Given the description of an element on the screen output the (x, y) to click on. 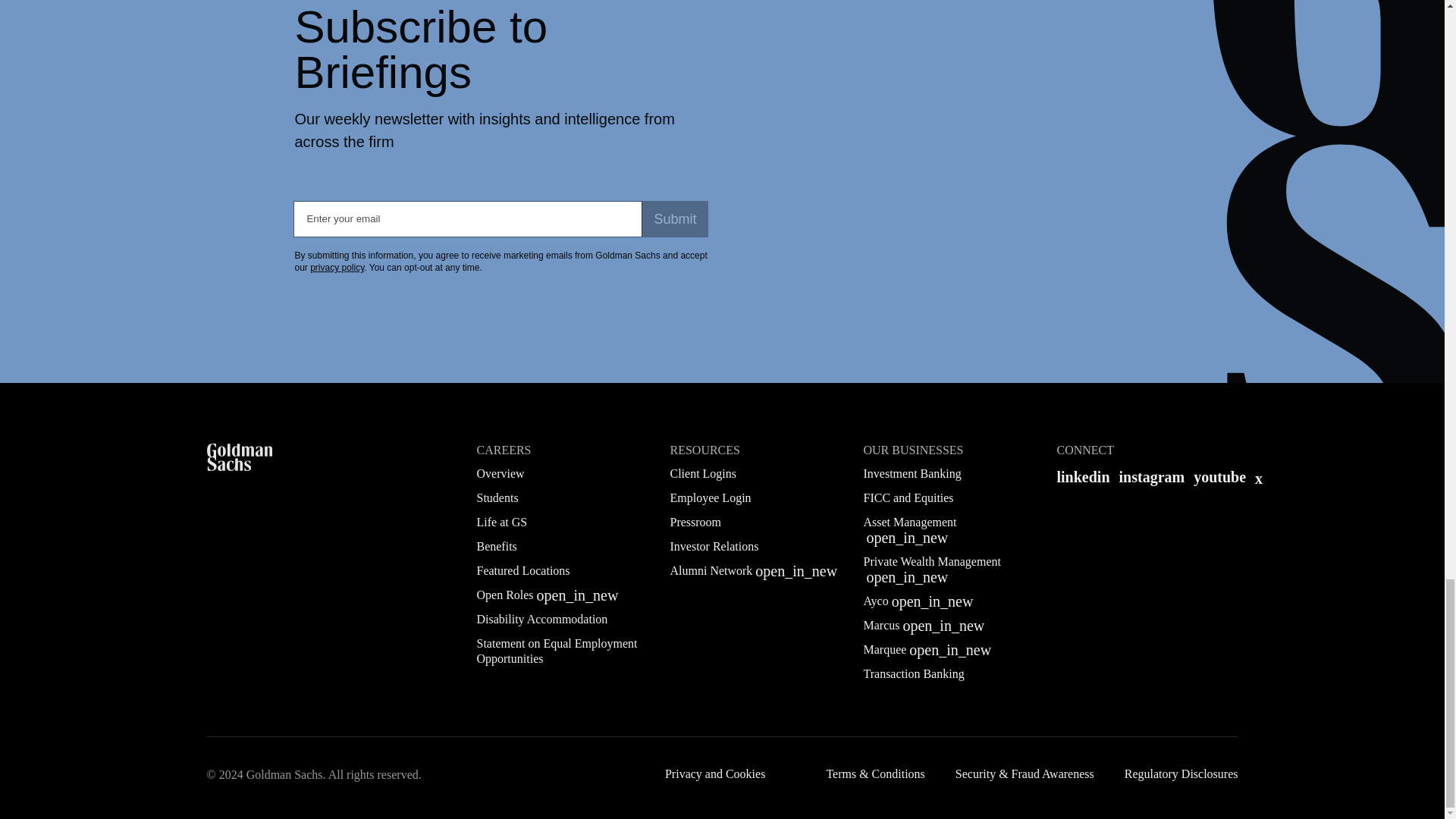
Statement on Equal Employment Opportunities (560, 651)
Disability Accommodation (541, 619)
YouTube (1219, 476)
Instagram (1152, 476)
LinkedIn (1083, 476)
